Given the description of an element on the screen output the (x, y) to click on. 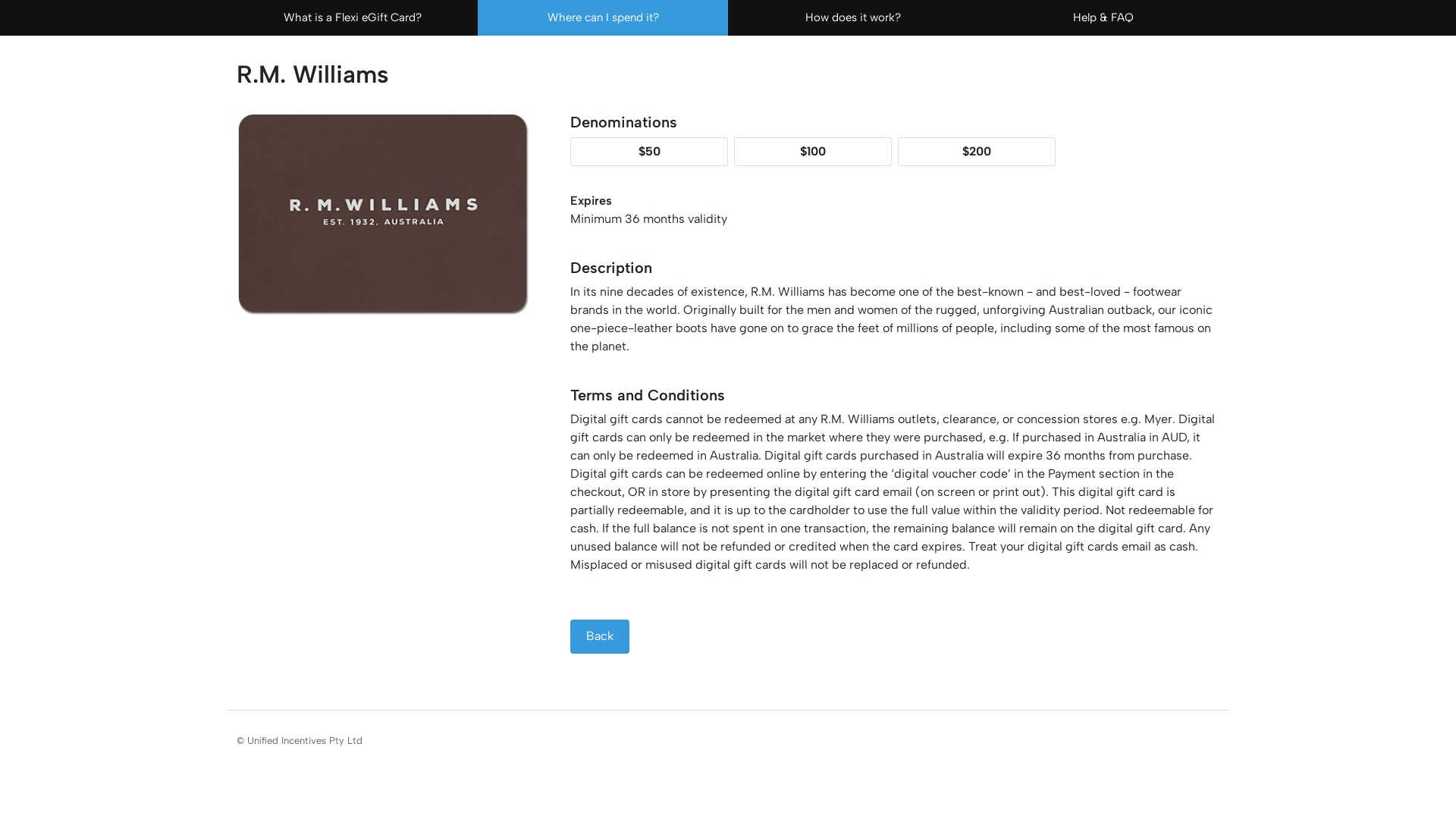
How does it work? Element type: text (853, 17)
Help & FAQ Element type: text (1103, 17)
Back Element type: text (599, 636)
What is a Flexi eGift Card? Element type: text (352, 17)
Where can I spend it? Element type: text (602, 17)
